Given the description of an element on the screen output the (x, y) to click on. 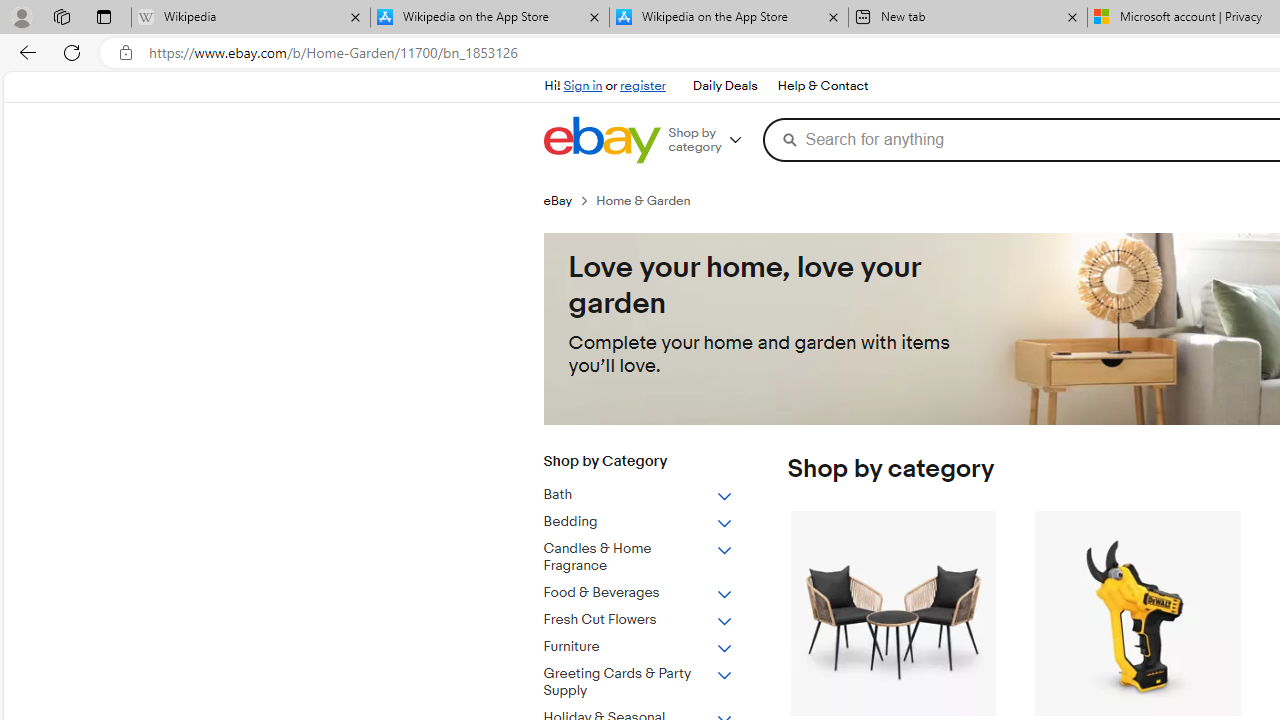
register (642, 85)
Refresh (72, 52)
Fresh Cut Flowers (653, 616)
Fresh Cut Flowers (637, 620)
New tab (967, 17)
Food & Beverages (653, 589)
Candles & Home Fragrance (653, 554)
Tab actions menu (104, 16)
View site information (125, 53)
Bedding (637, 522)
Candles & Home Fragrance (637, 558)
Greeting Cards & Party Supply (637, 683)
Bedding (653, 518)
Workspaces (61, 16)
